Given the description of an element on the screen output the (x, y) to click on. 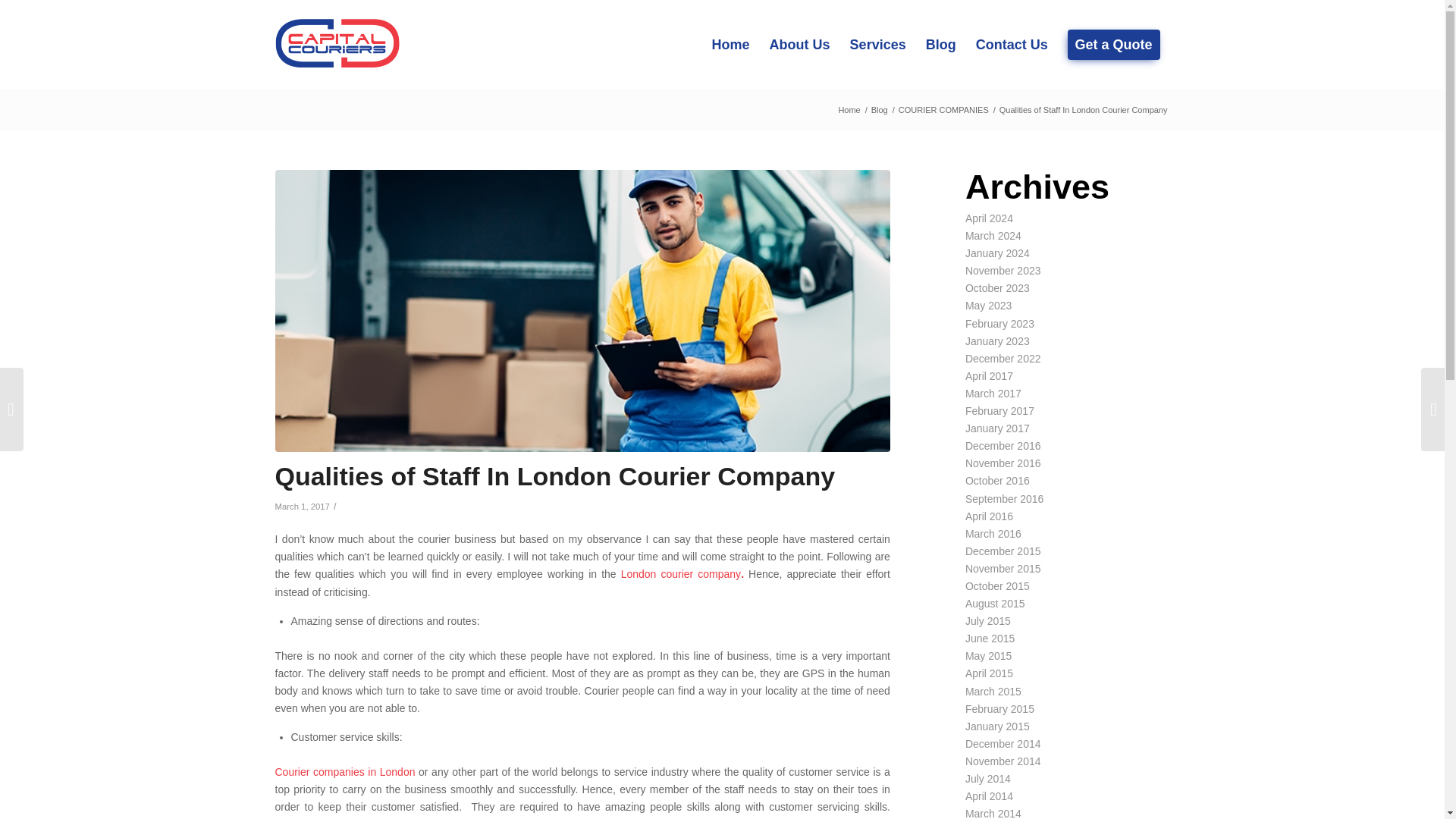
Get a Quote (1114, 44)
Permanent Link: Qualities of Staff In London Courier Company (554, 475)
About Us (800, 44)
Home (848, 110)
Contact Us (1012, 44)
Blog (879, 110)
January 2024 (997, 253)
April 2024 (989, 218)
COURIER COMPANIES (943, 110)
March 2024 (993, 235)
Capital Couriers (848, 110)
October 2023 (997, 287)
January 2023 (997, 340)
May 2023 (988, 305)
